Given the description of an element on the screen output the (x, y) to click on. 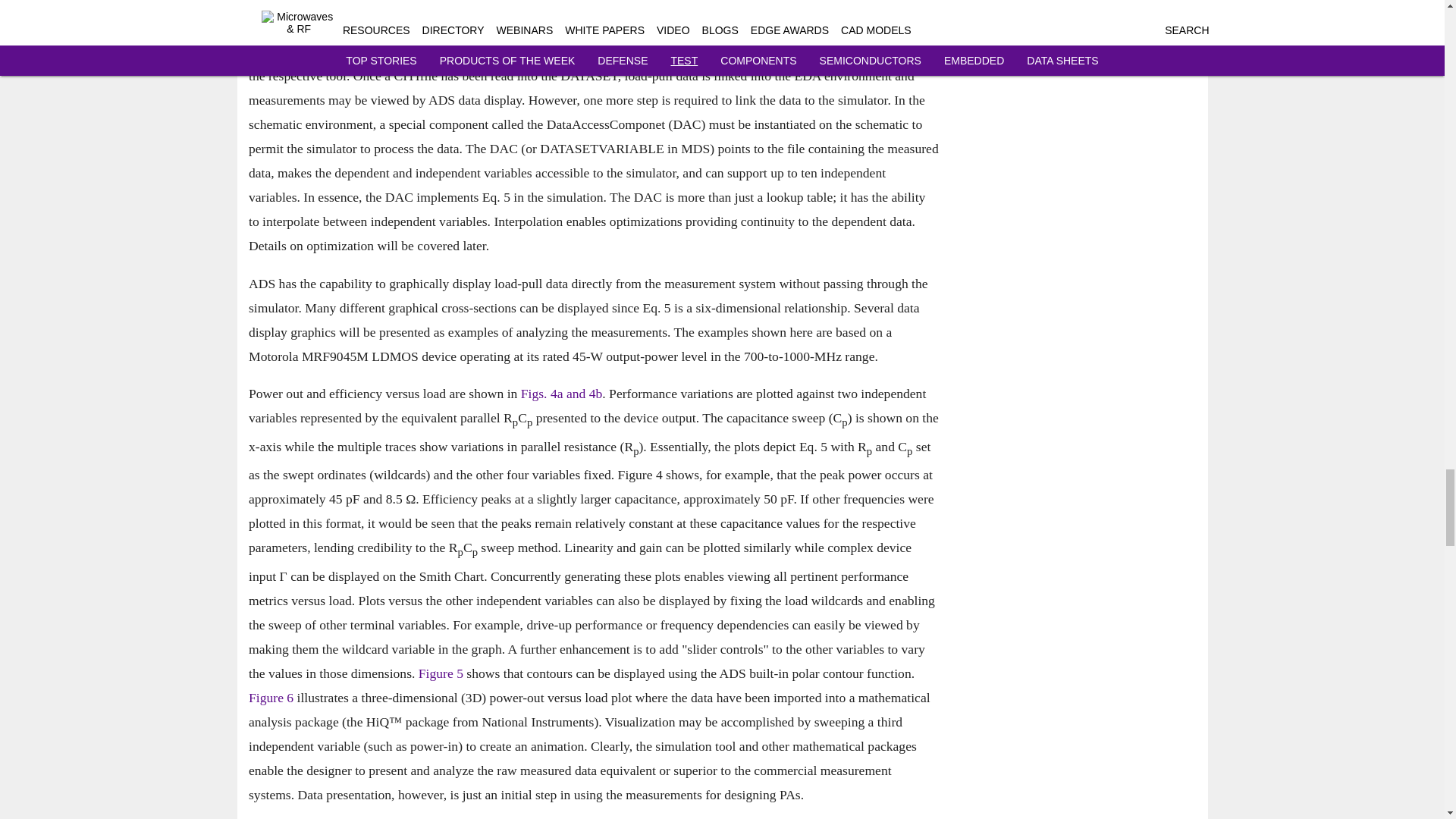
Figs. 4a and 4b (560, 394)
Figure 6 (271, 697)
Figure 5 (440, 672)
